Given the description of an element on the screen output the (x, y) to click on. 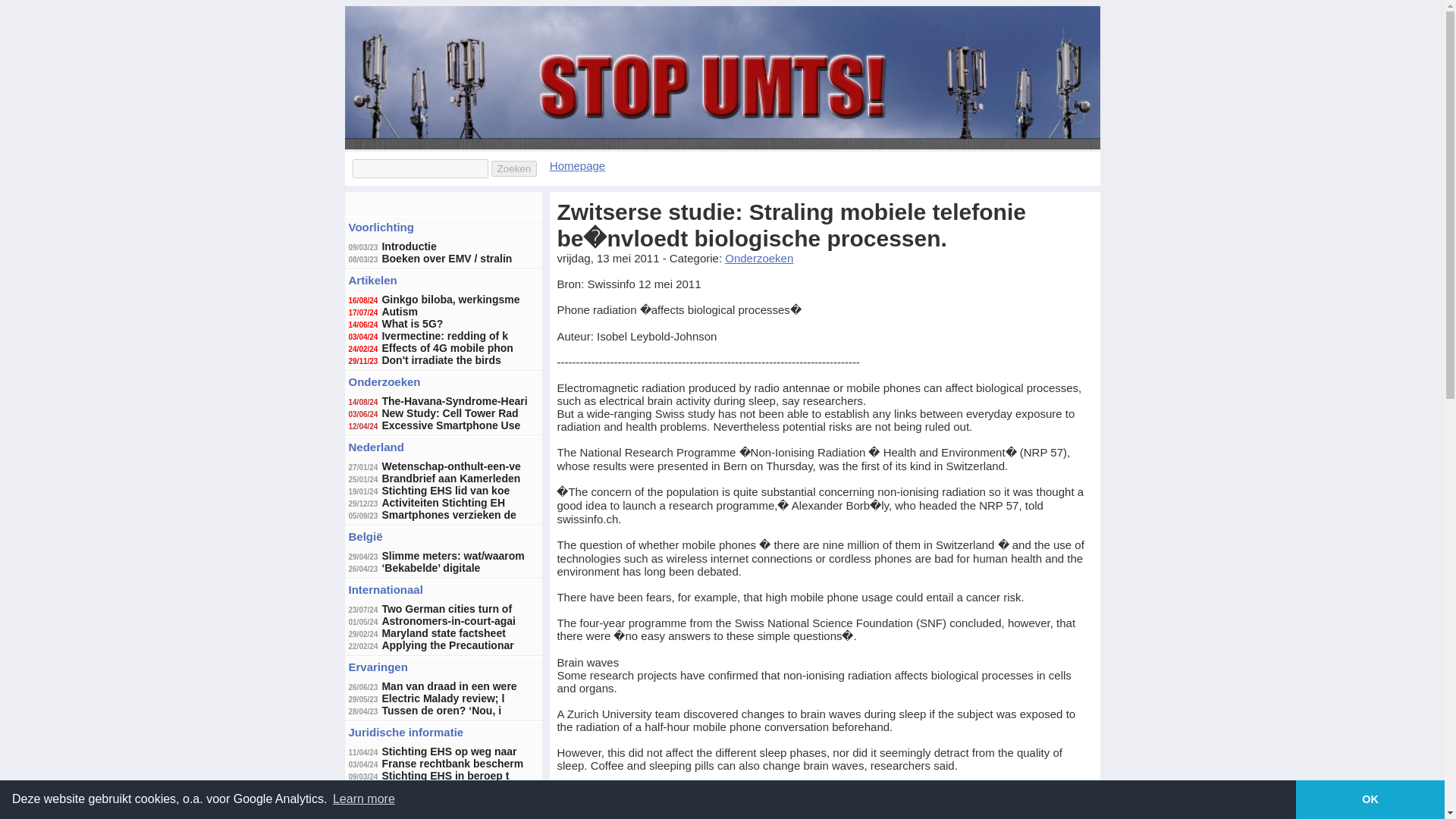
Ga naar overzicht: Onderzoeken (384, 381)
Voorlichting (381, 226)
Zoeken (514, 168)
What is 5G? (411, 323)
New Study: Cell Tower Rad (449, 413)
Ivermectine: redding of k (443, 336)
Ga naar overzicht: Berichten Nederland (376, 446)
Don't irradiate the birds (440, 359)
Effects of 4G mobile phon (446, 347)
Onderzoeken (384, 381)
